Given the description of an element on the screen output the (x, y) to click on. 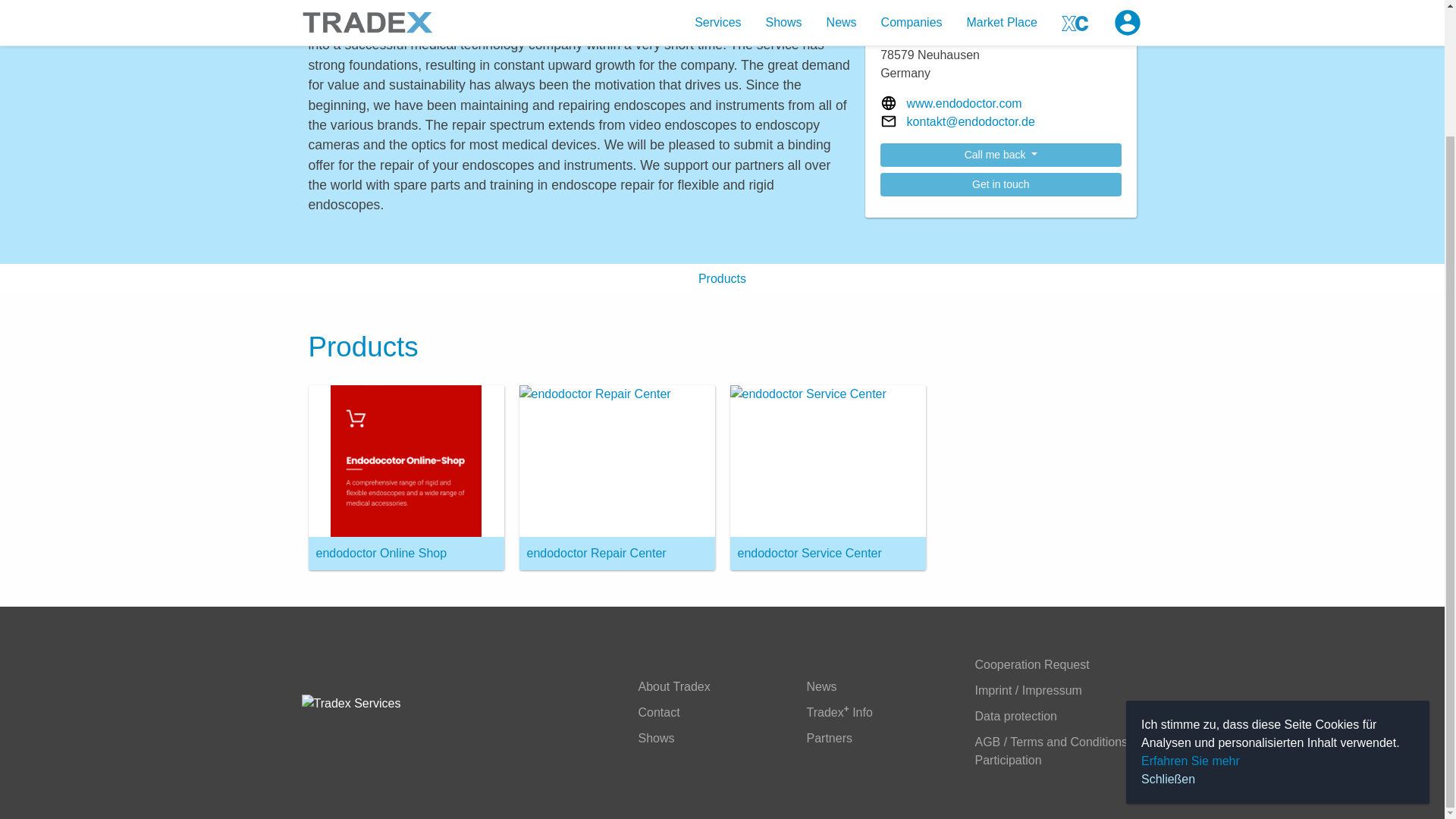
Shows (657, 738)
Contact (659, 712)
Cooperation Request (1032, 665)
Contact (659, 712)
Erfahren Sie mehr (1190, 608)
Data protection (1016, 716)
www.endodoctor.com (964, 104)
Partners (828, 738)
About Tradex (674, 687)
endodoctor Repair Center (616, 477)
Get in touch (1000, 184)
endodoctor Service Center (826, 477)
endodoctor Online Shop (405, 477)
Products (721, 278)
News (821, 687)
